Given the description of an element on the screen output the (x, y) to click on. 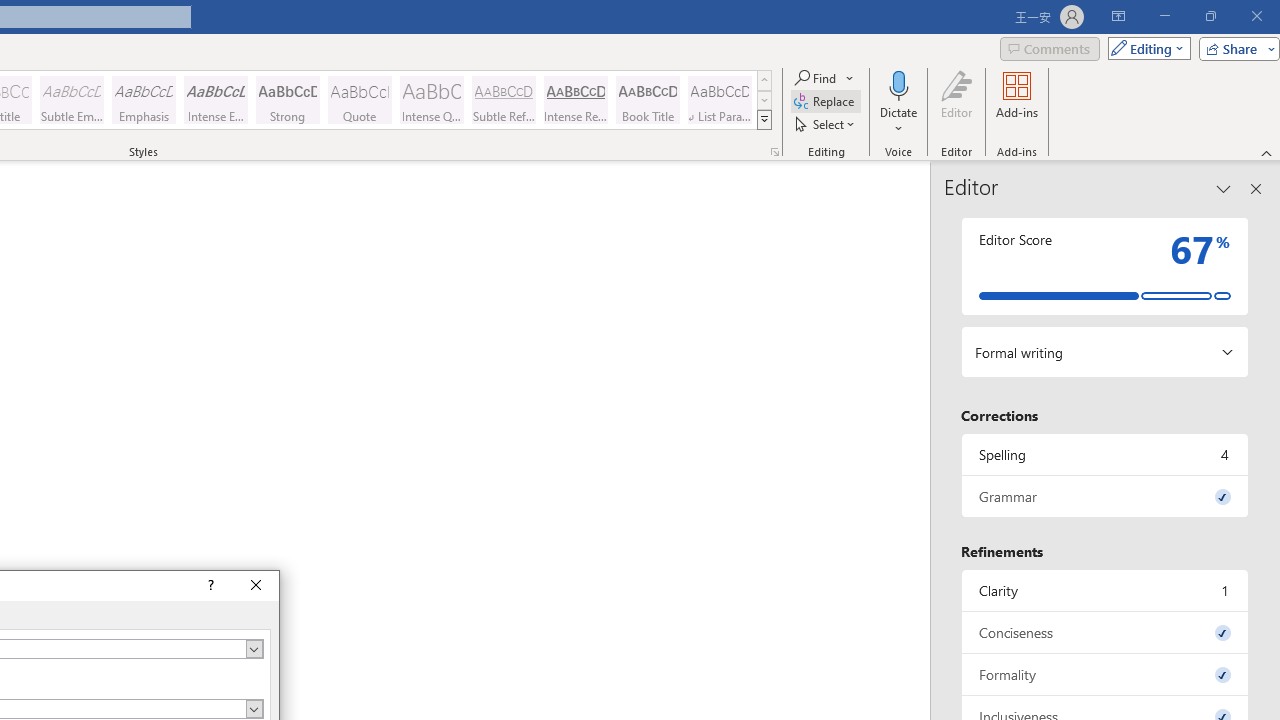
Clarity, 1 issue. Press space or enter to review items. (1105, 590)
Intense Reference (575, 100)
Context help (208, 585)
